Given the description of an element on the screen output the (x, y) to click on. 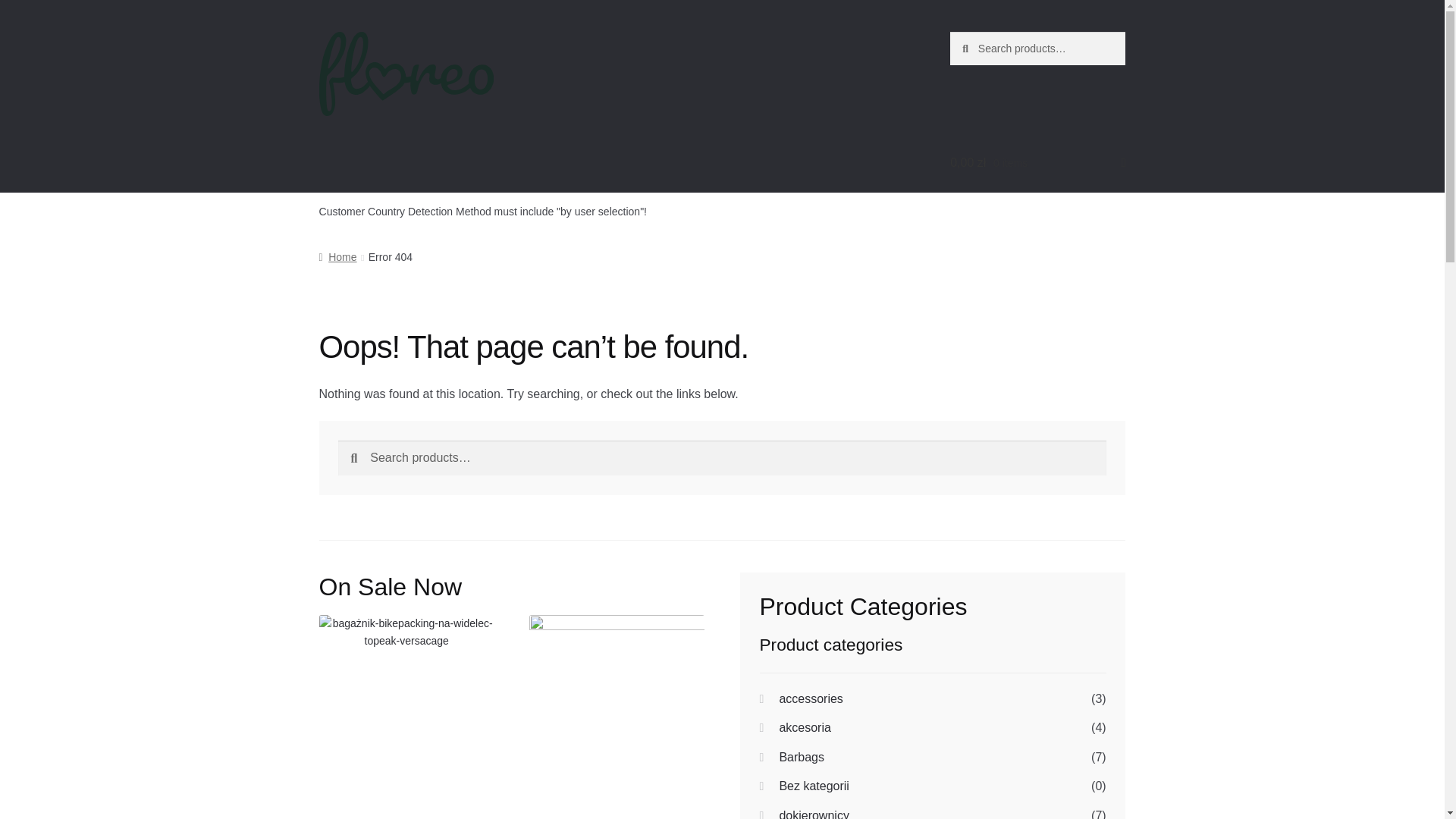
View your shopping cart (1037, 162)
